Given the description of an element on the screen output the (x, y) to click on. 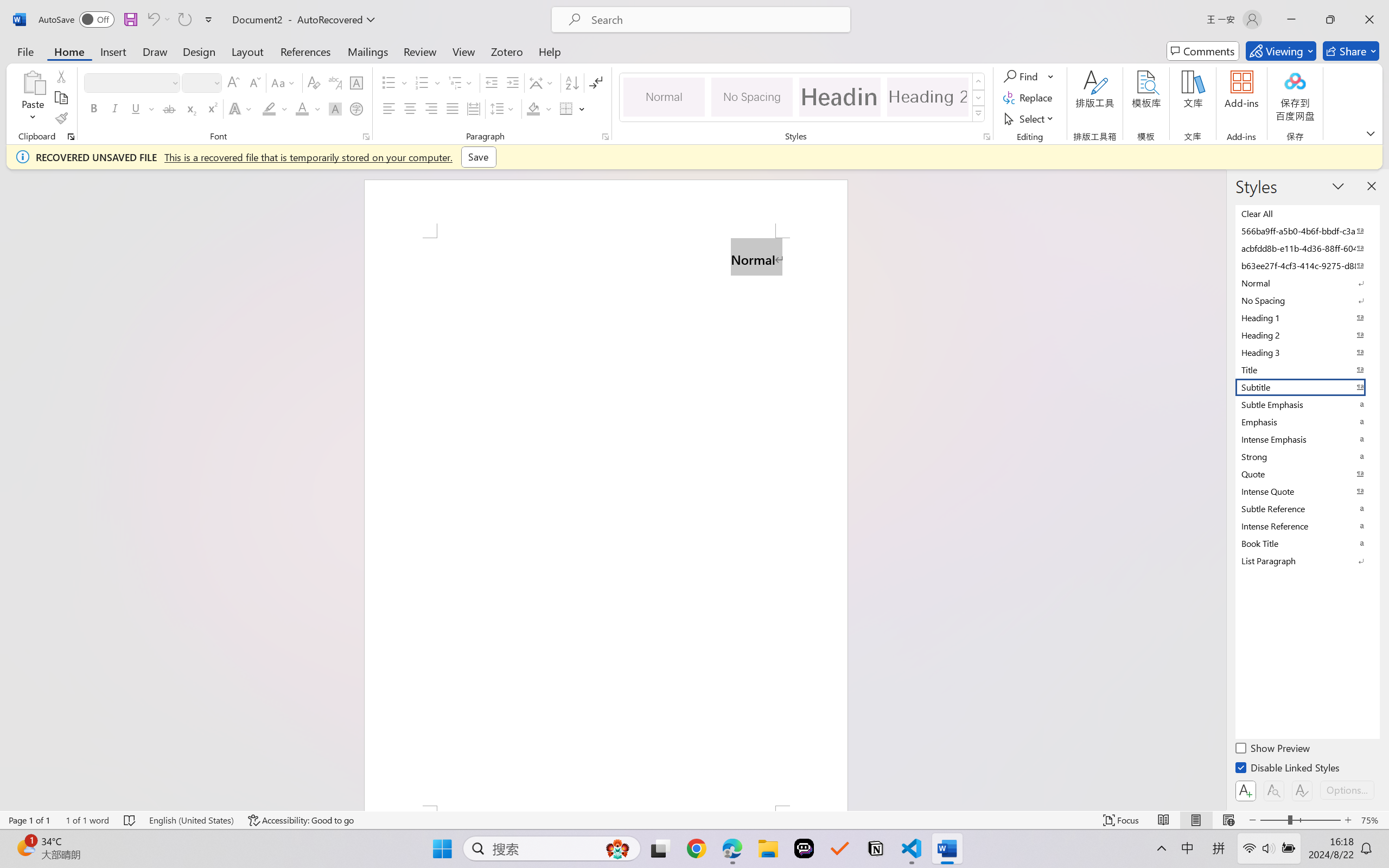
Change Case (284, 82)
Normal (1306, 282)
Class: NetUIScrollBar (1219, 489)
Align Left (388, 108)
Justify (452, 108)
Character Shading (334, 108)
Emphasis (1306, 421)
Book Title (1306, 543)
